Given the description of an element on the screen output the (x, y) to click on. 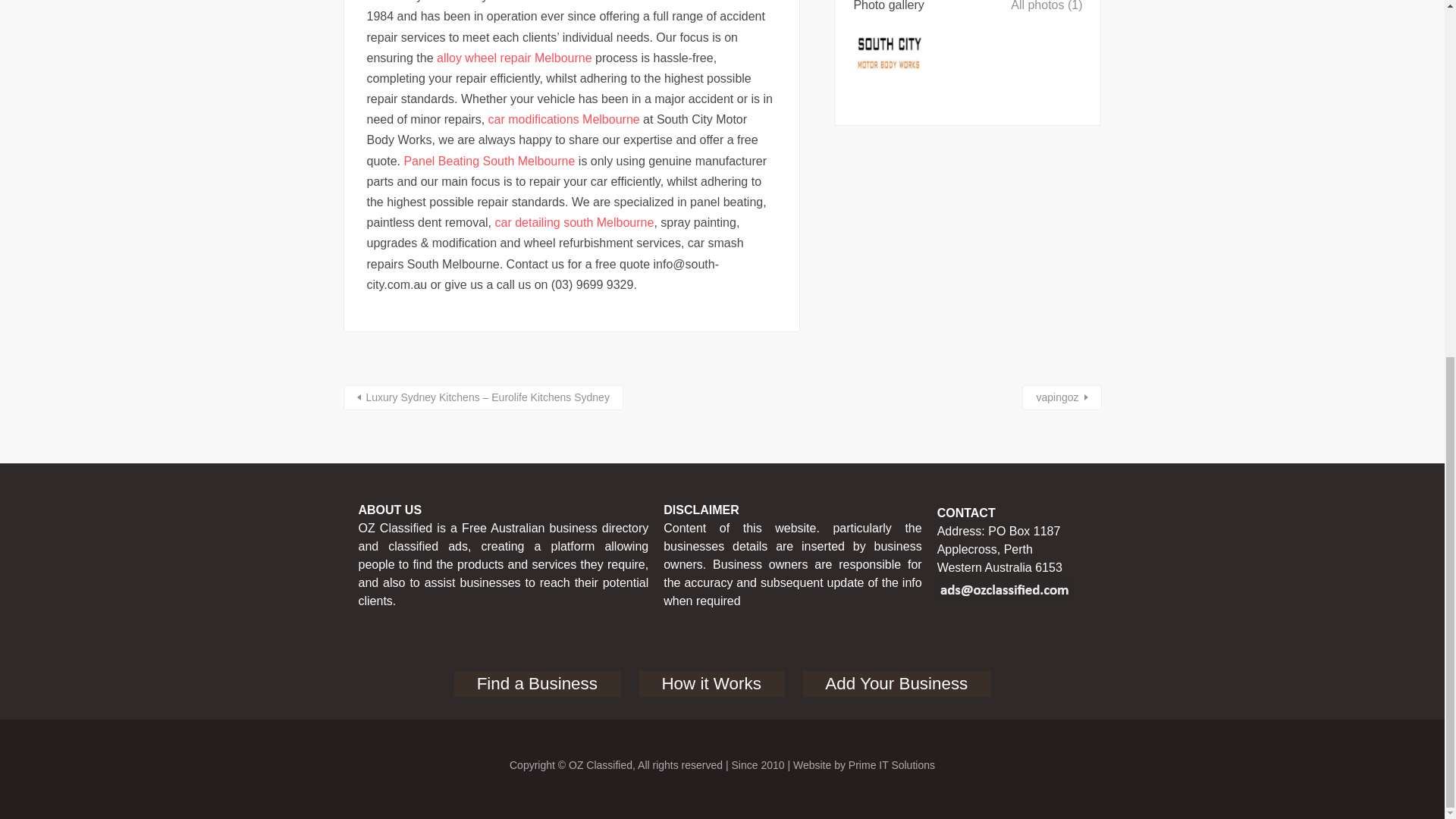
Panel Beating South Melbourne (489, 160)
car modifications Melbourne (563, 119)
car detailing south Melbourne (574, 222)
Panel Beater Southbank (595, 1)
alloy wheel repair Melbourne (514, 57)
